Given the description of an element on the screen output the (x, y) to click on. 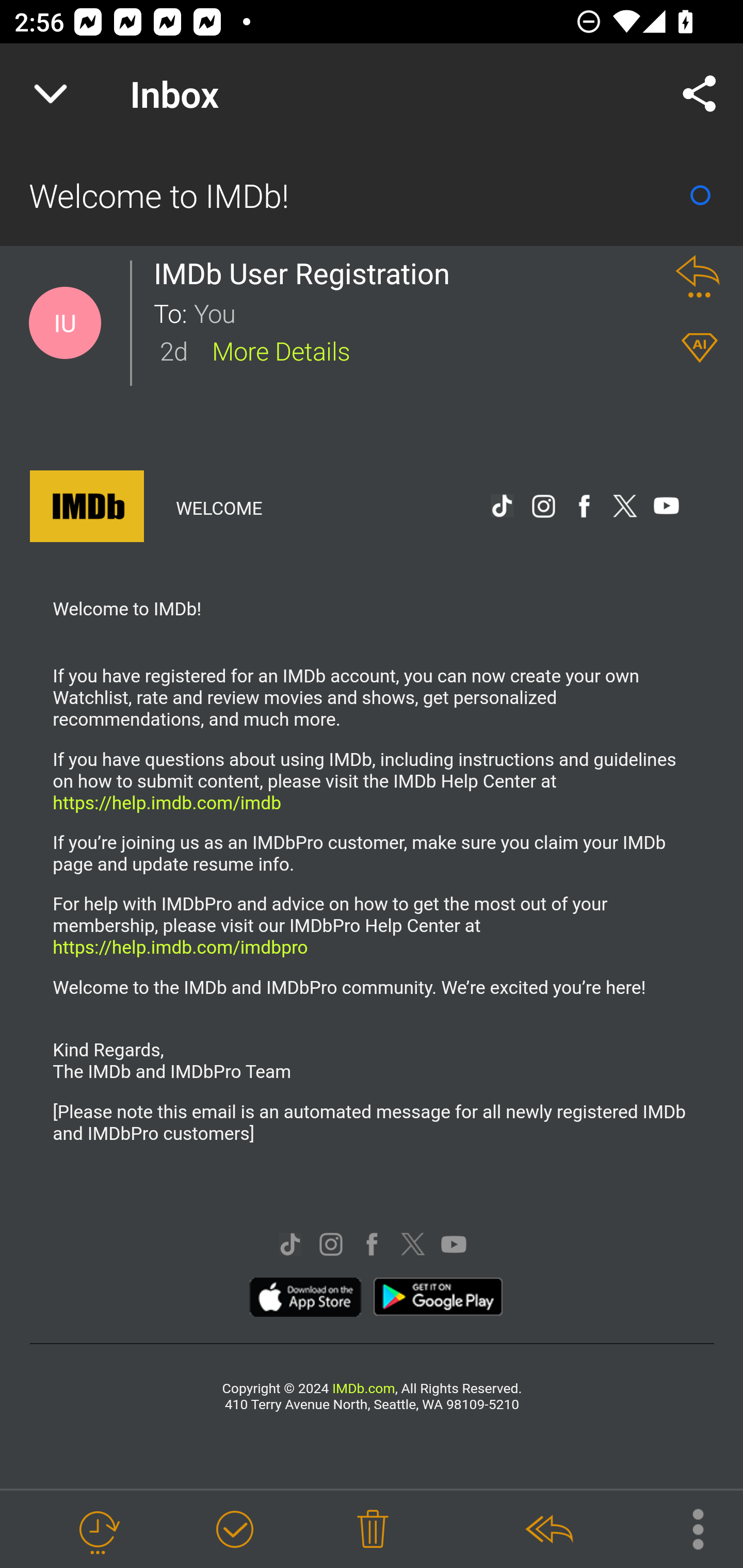
Navigate up (50, 93)
Share (699, 93)
Mark as Read (699, 194)
IMDb User Registration (306, 273)
Contact Details (64, 322)
More Details (280, 349)
IMDb Logo (86, 508)
IMDb on TikTok (501, 507)
IMDb on Instagram (543, 507)
IMDb on Facebook (583, 507)
IMDb on X (625, 507)
IMDb on YouTube (665, 507)
https://help.imdb.com/imdb (166, 801)
https://help.imdb.com/imdbpro (180, 946)
IMDb on TikTok (289, 1246)
IMDb on Instagram (330, 1246)
IMDb on Facebook (371, 1246)
IMDb on X (412, 1246)
IMDb on YouTube (453, 1246)
apple_113x34 (305, 1298)
google_113x34 (437, 1298)
IMDb.com (362, 1388)
More Options (687, 1528)
Snooze (97, 1529)
Mark as Done (234, 1529)
Delete (372, 1529)
Reply All (548, 1529)
